Given the description of an element on the screen output the (x, y) to click on. 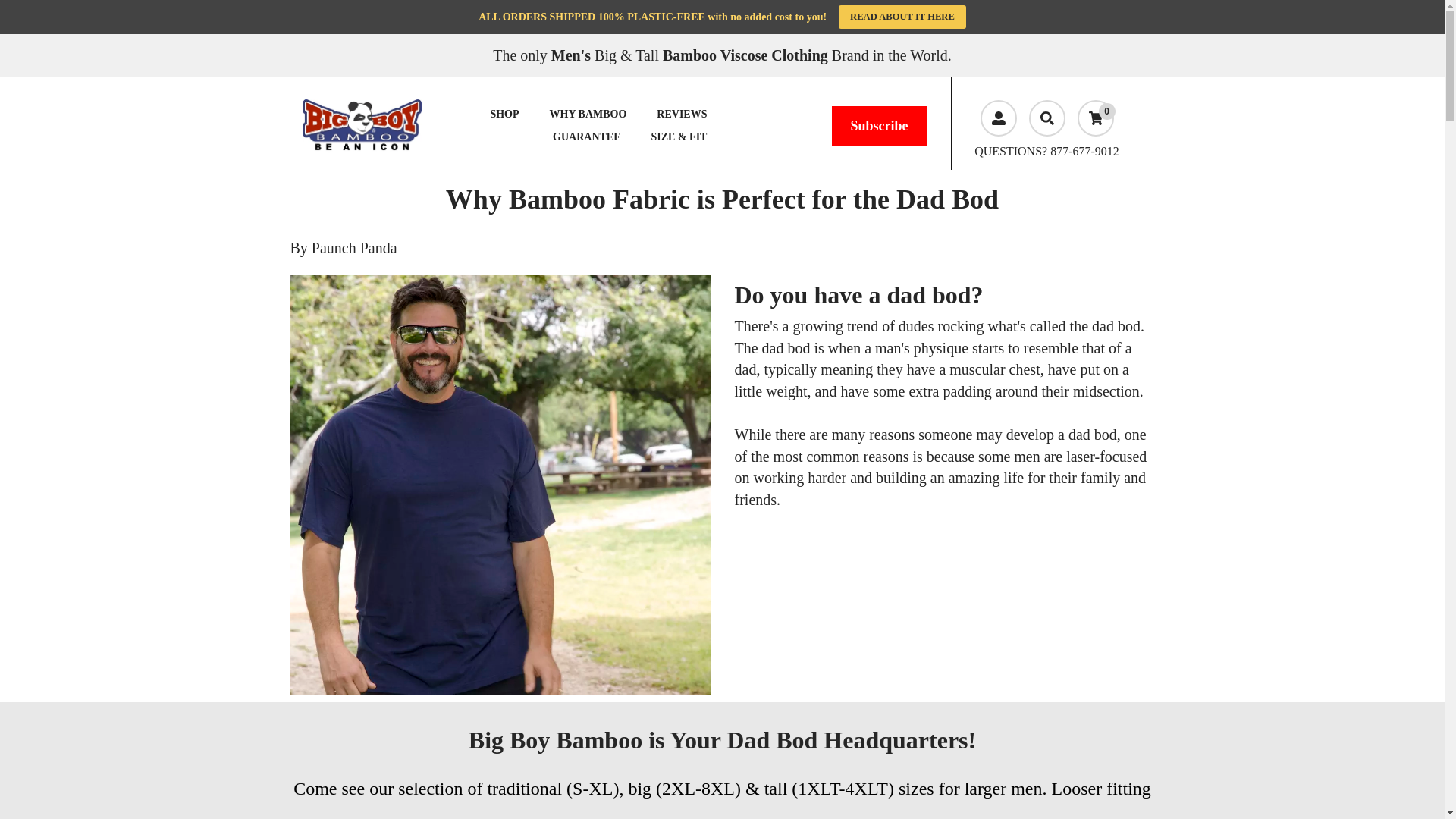
GUARANTEE (585, 137)
SHOP (504, 114)
WHY BAMBOO (588, 114)
GUARANTEE (585, 137)
REVIEWS (682, 114)
Subscribe (878, 126)
WHY BAMBOO (588, 114)
SHOP (504, 114)
0 (1095, 117)
QUESTIONS? 877-677-9012 (1046, 151)
